Given the description of an element on the screen output the (x, y) to click on. 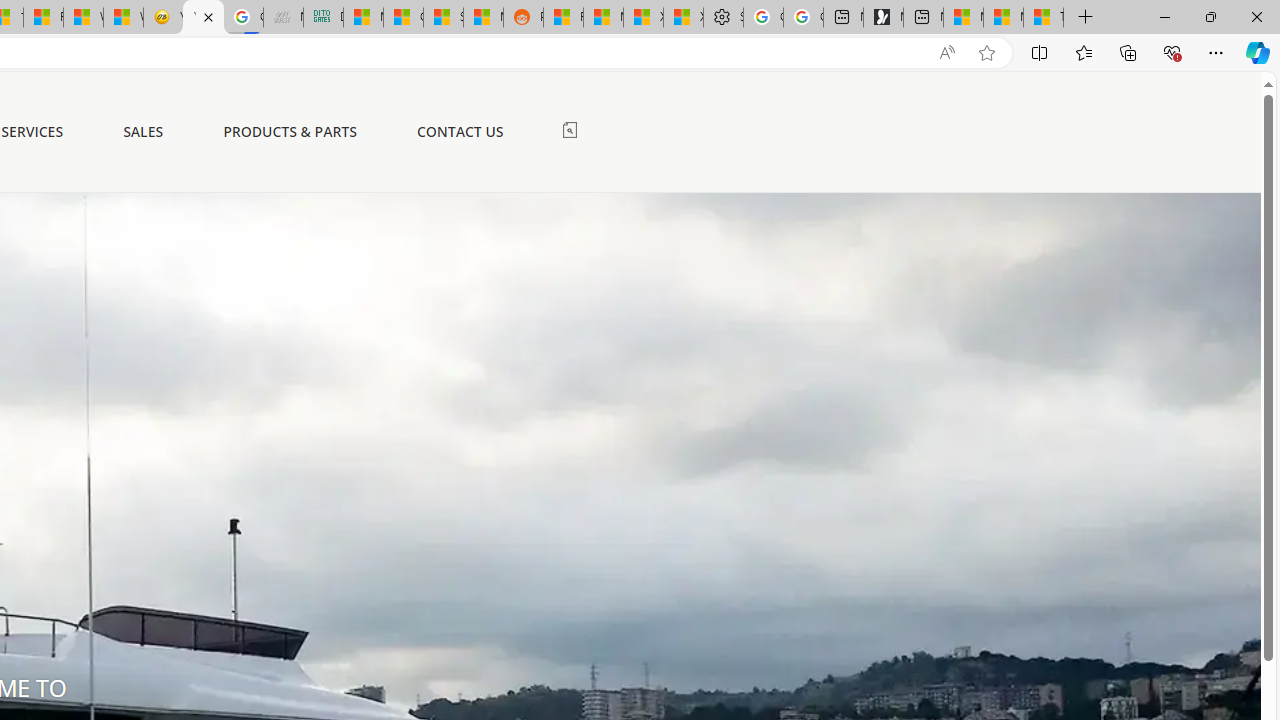
CONTACT US (459, 131)
PRODUCTS & PARTS (289, 131)
R******* | Trusted Community Engagement and Contributions (563, 17)
